Given the description of an element on the screen output the (x, y) to click on. 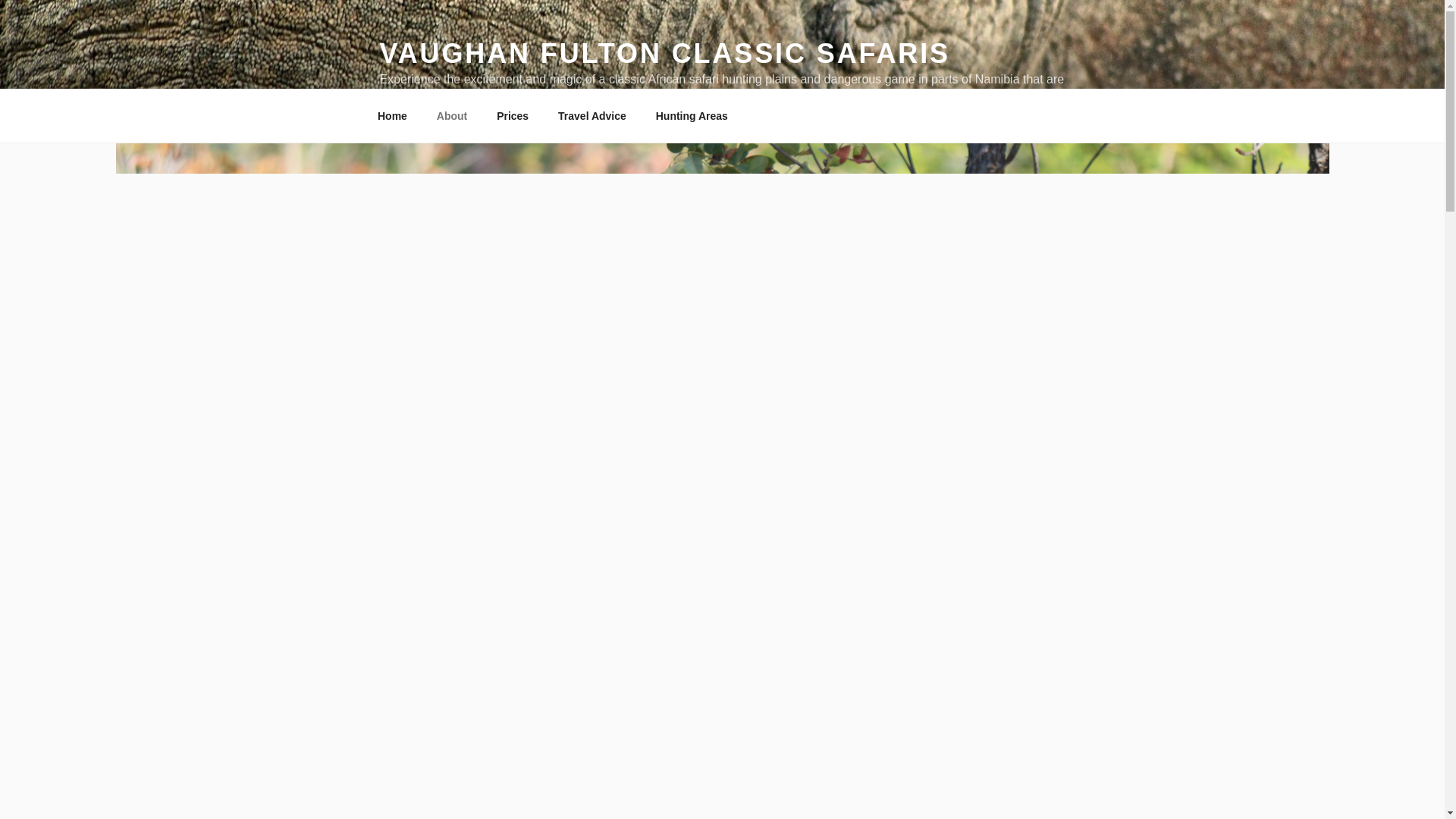
About (451, 115)
Prices (512, 115)
Home (392, 115)
VAUGHAN FULTON CLASSIC SAFARIS (663, 52)
Travel Advice (592, 115)
Hunting Areas (691, 115)
